Given the description of an element on the screen output the (x, y) to click on. 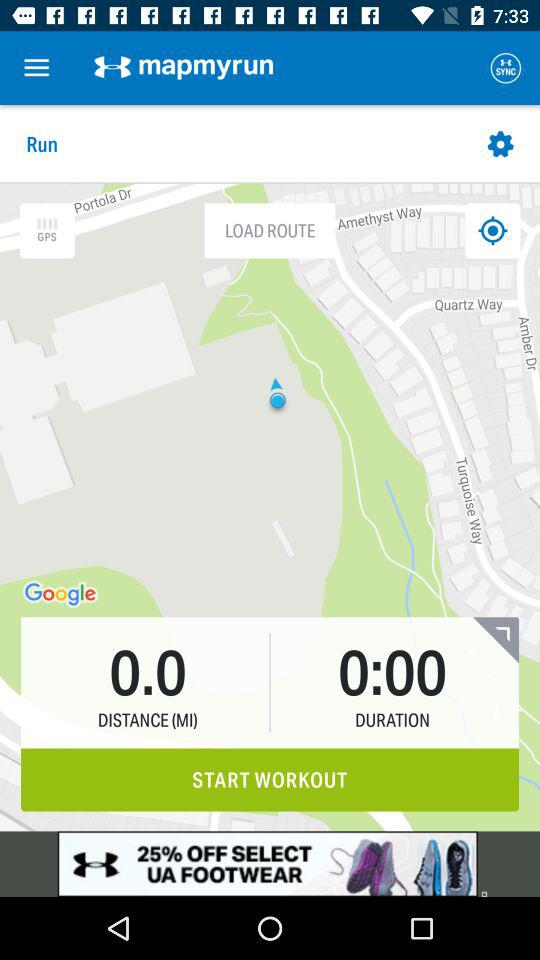
shows mark icon (492, 230)
